Given the description of an element on the screen output the (x, y) to click on. 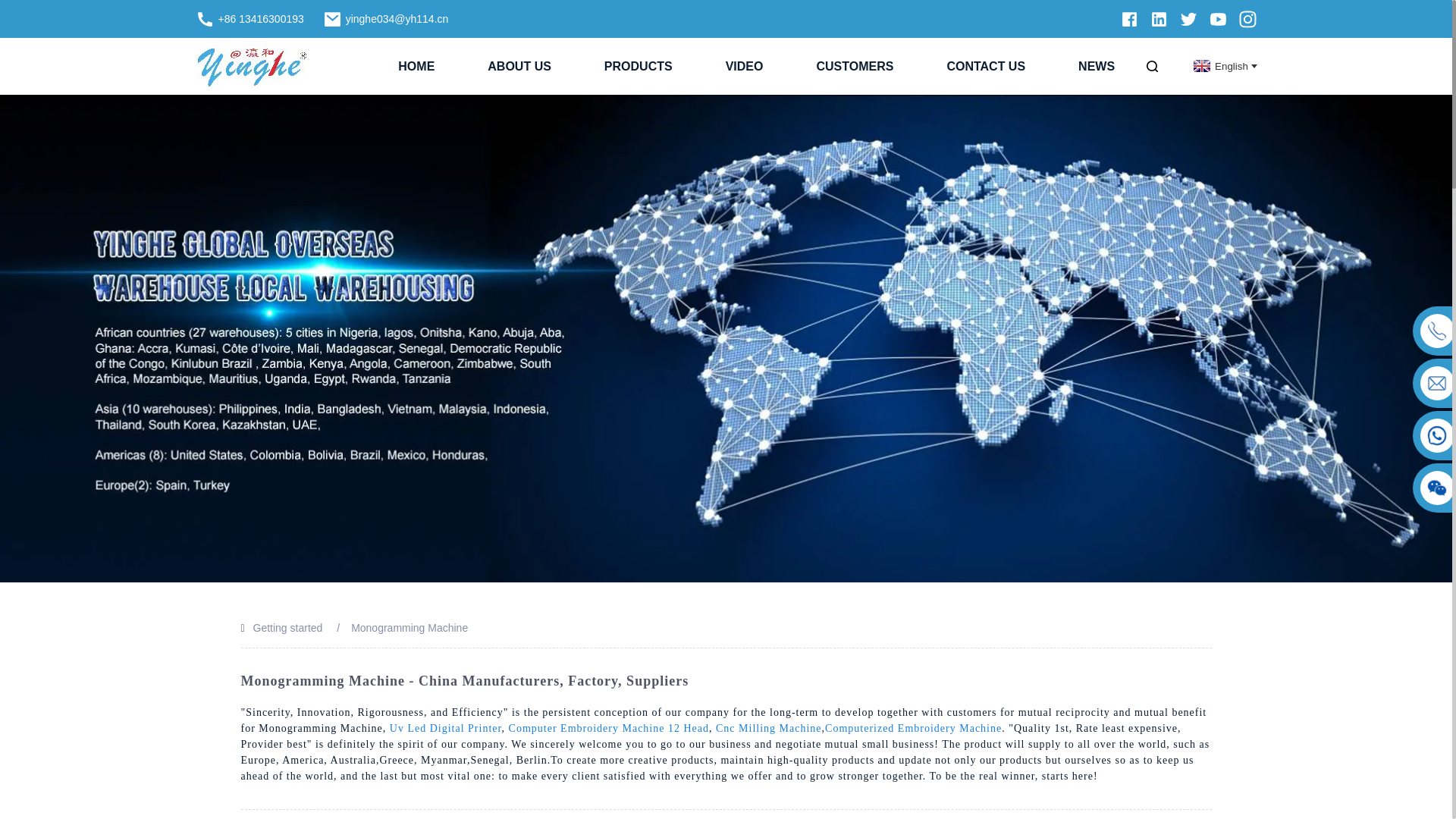
Computerized Embroidery Machine (913, 727)
ABOUT US (519, 66)
Uv Led Digital Printer (446, 727)
HOME (416, 66)
Cnc Milling Machine (769, 727)
Computer Embroidery Machine 12 Head (608, 727)
PRODUCTS (638, 66)
